Given the description of an element on the screen output the (x, y) to click on. 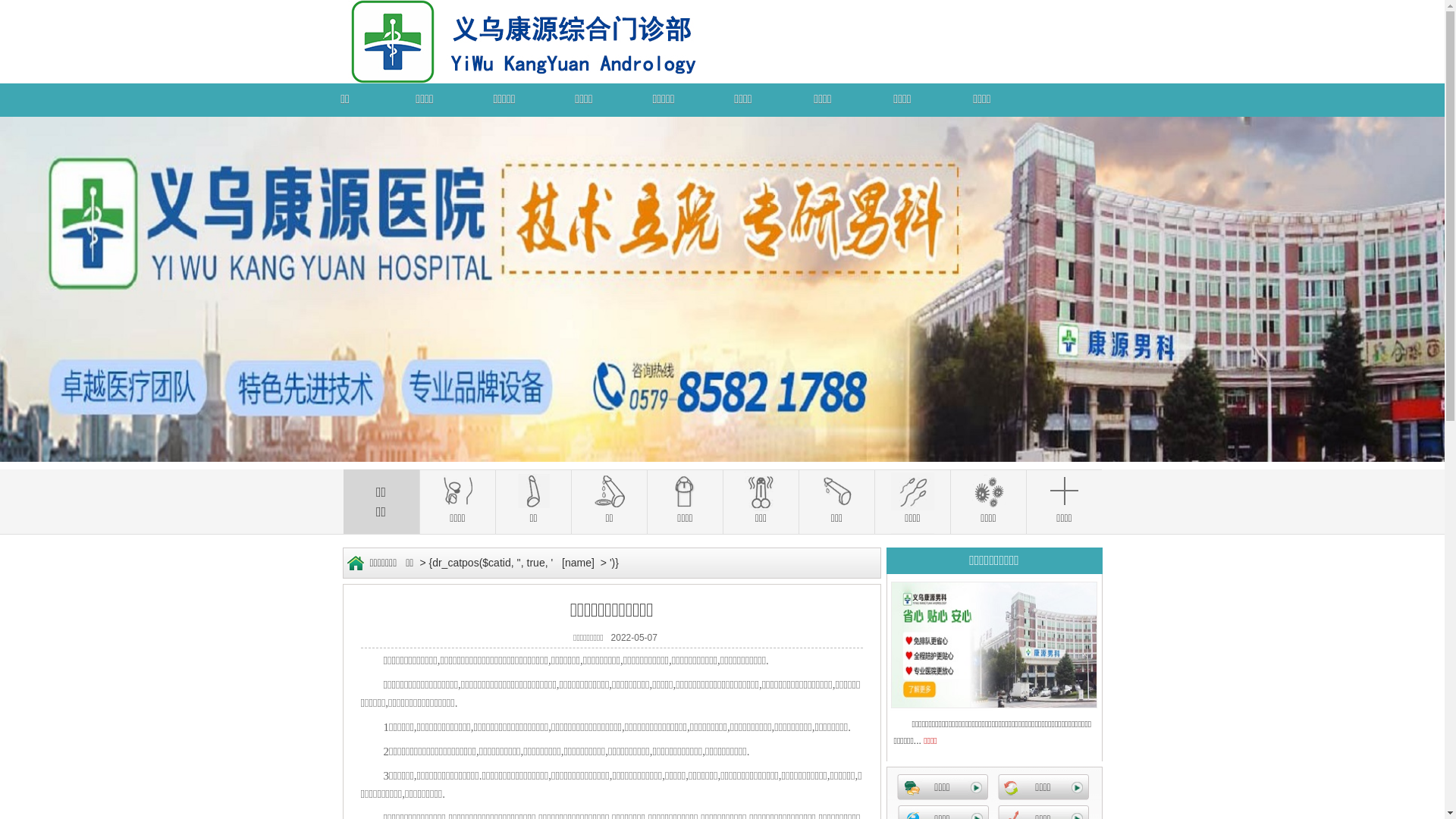
[name] Element type: text (577, 562)
